Given the description of an element on the screen output the (x, y) to click on. 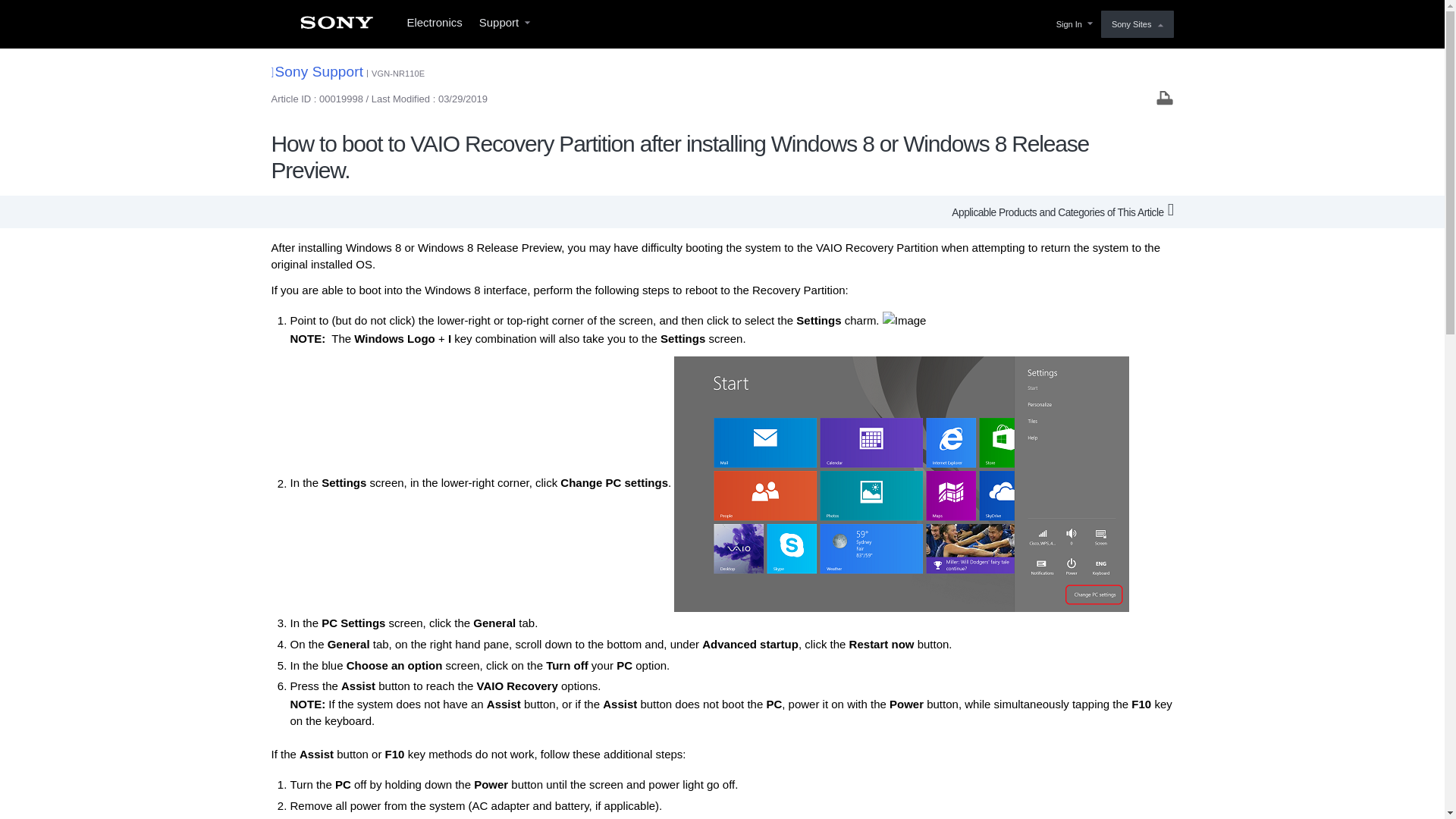
Print (1164, 97)
VGN-NR110E (398, 72)
Sony Support (317, 71)
Sign In (1072, 23)
Support (504, 24)
Sony Sites (1136, 23)
SONY (336, 26)
Electronics (434, 24)
SONY (336, 26)
